Given the description of an element on the screen output the (x, y) to click on. 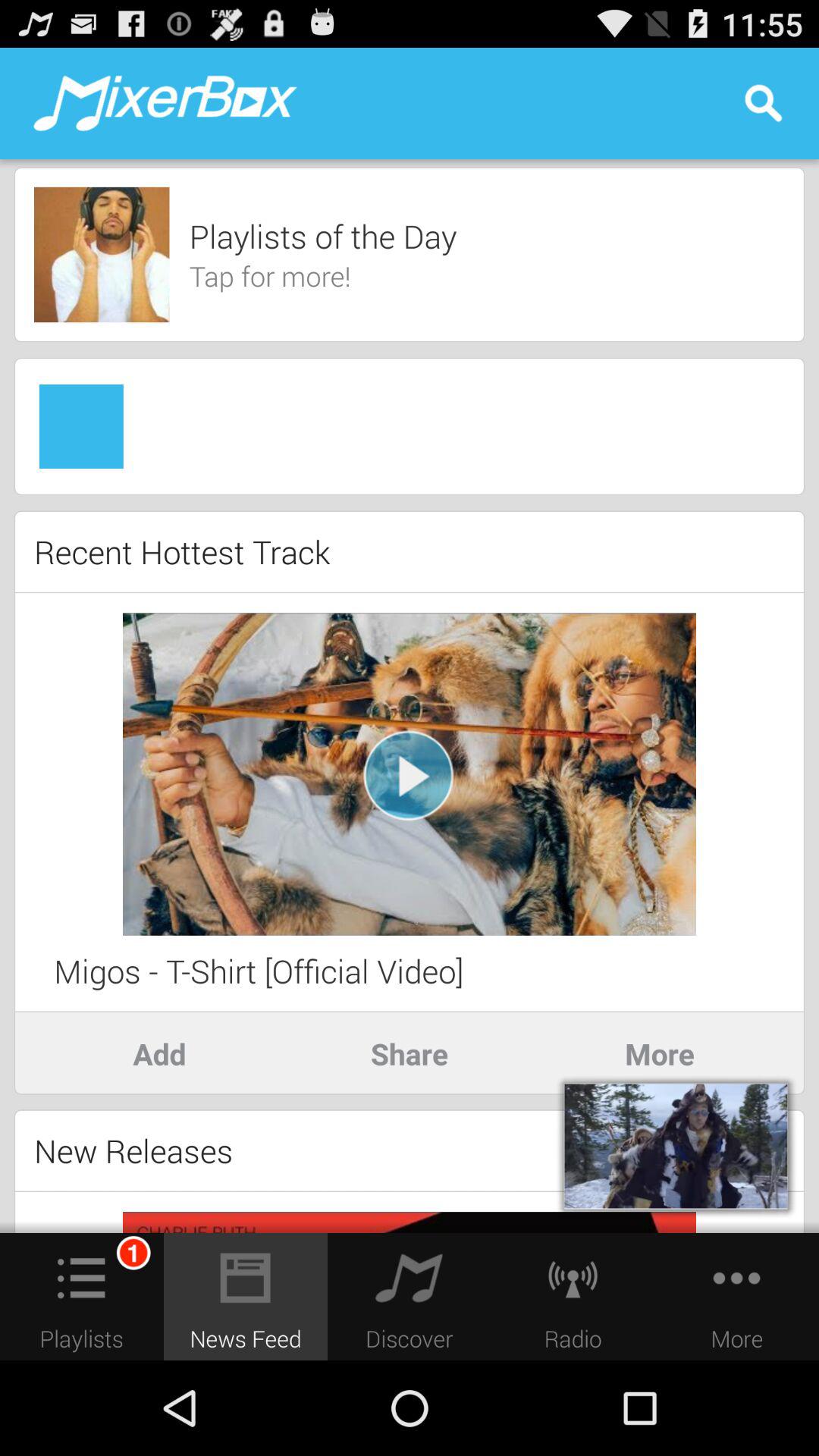
tap the tap for more! item (269, 275)
